Given the description of an element on the screen output the (x, y) to click on. 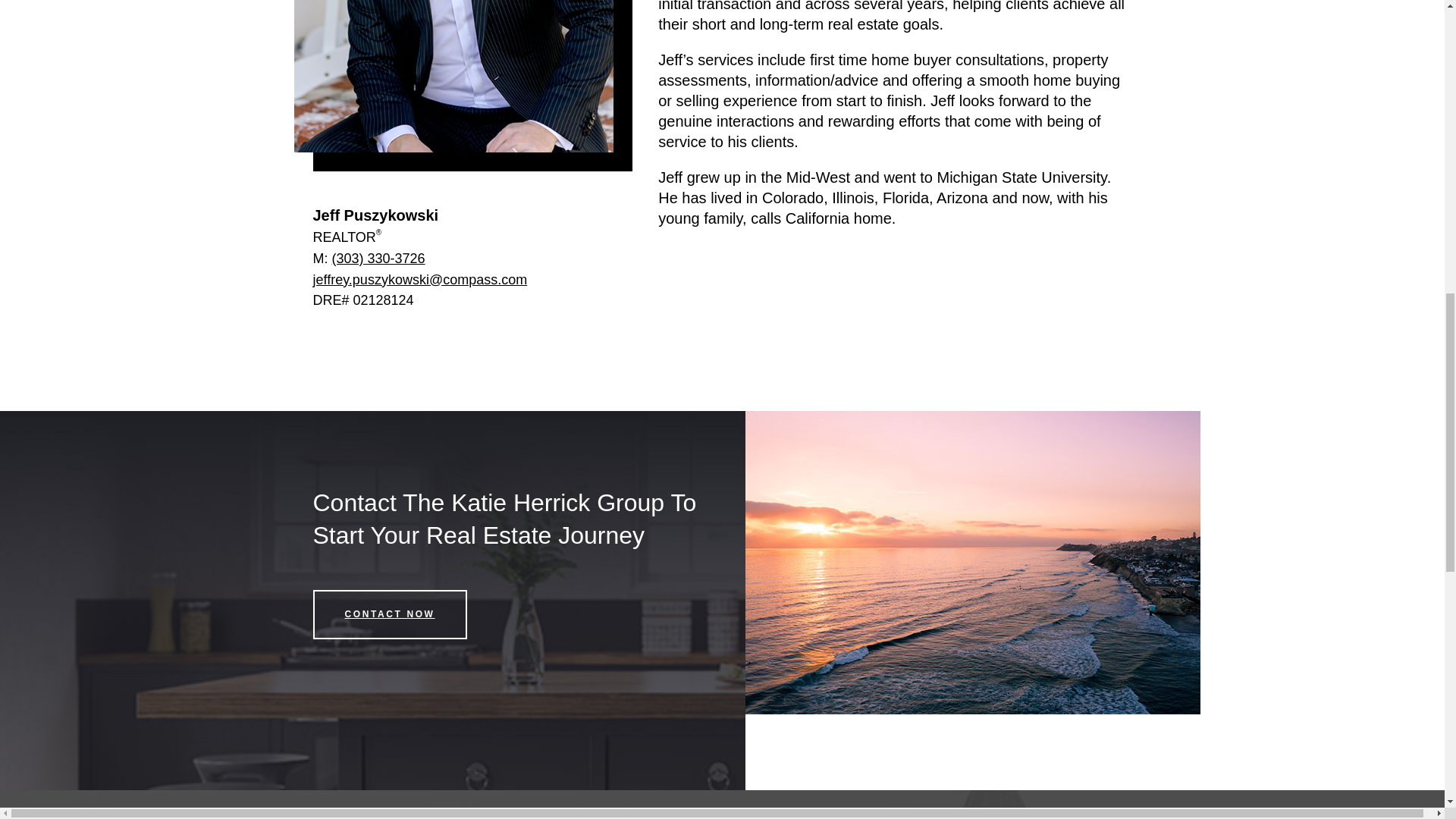
CONTACT NOW (389, 613)
Jeffrey Puszykowski (453, 76)
